Given the description of an element on the screen output the (x, y) to click on. 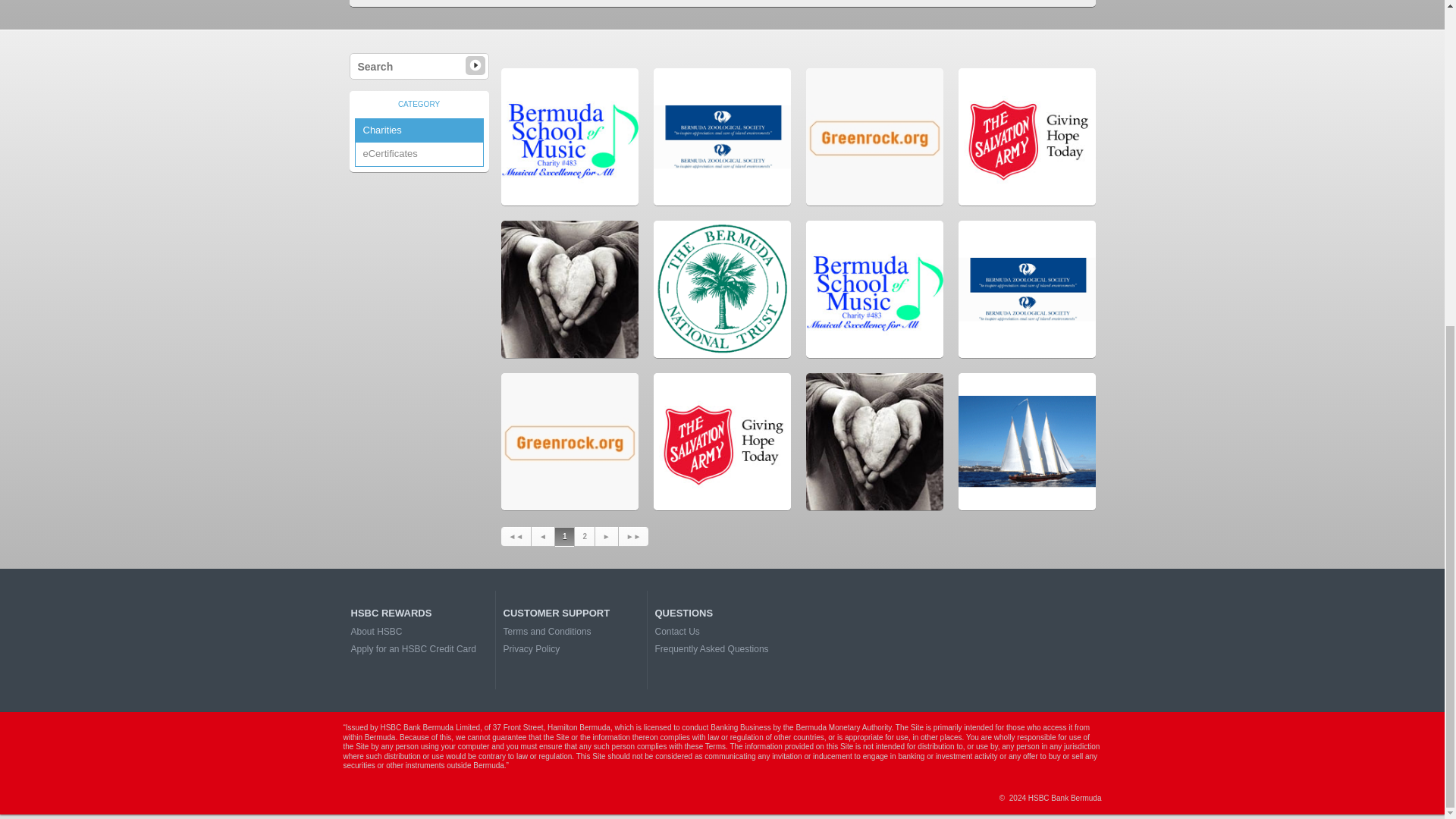
Next (606, 536)
Go to page 2 (584, 536)
eCertificates (418, 154)
Charities (418, 130)
Next 5 (633, 536)
Previous (542, 536)
Previous 5 (515, 536)
Current Active Page is 1 (563, 536)
